Given the description of an element on the screen output the (x, y) to click on. 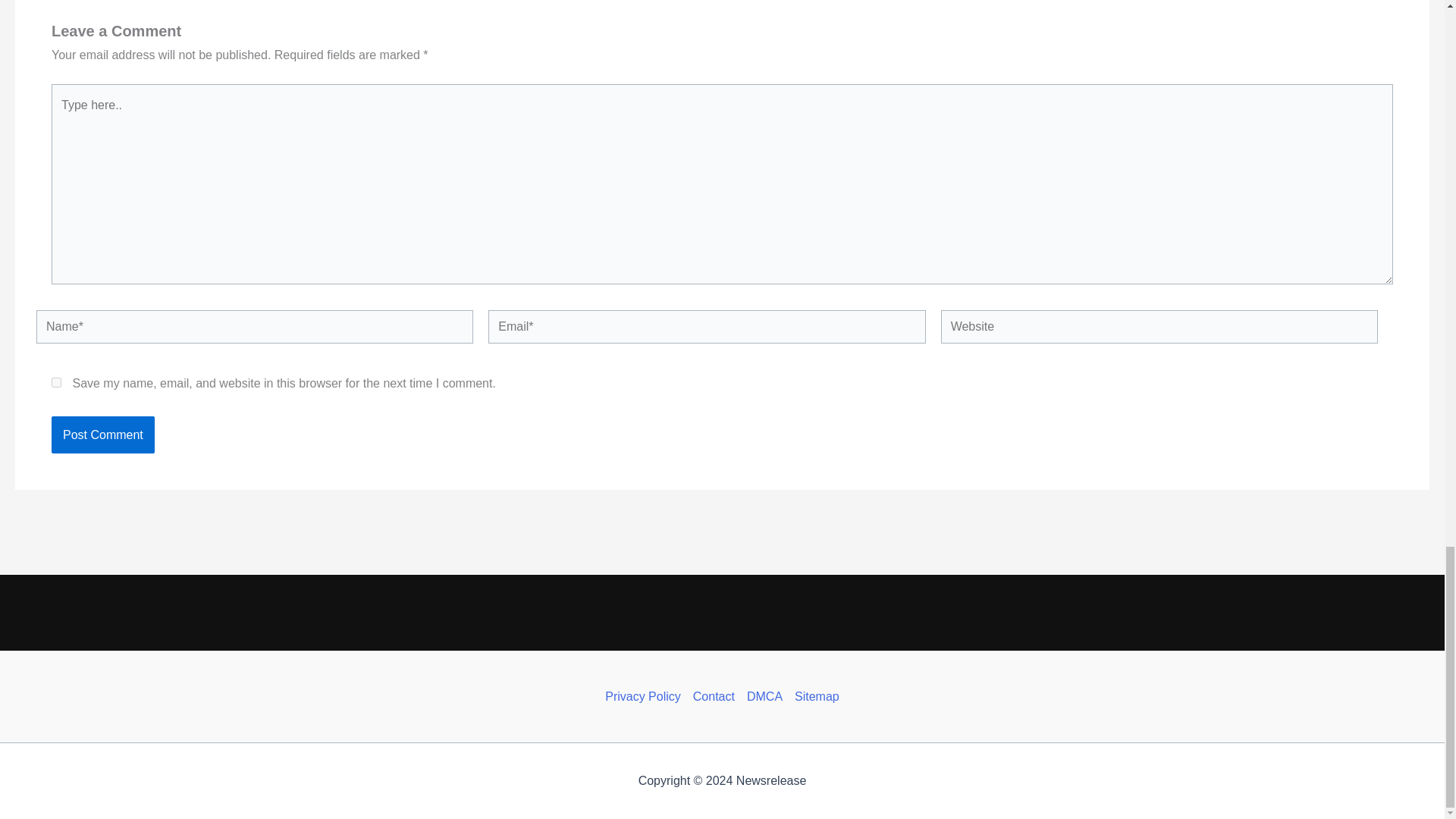
yes (55, 382)
Post Comment (102, 435)
Privacy Policy (646, 696)
Post Comment (102, 435)
DMCA (765, 696)
Sitemap (814, 696)
Contact (714, 696)
